Given the description of an element on the screen output the (x, y) to click on. 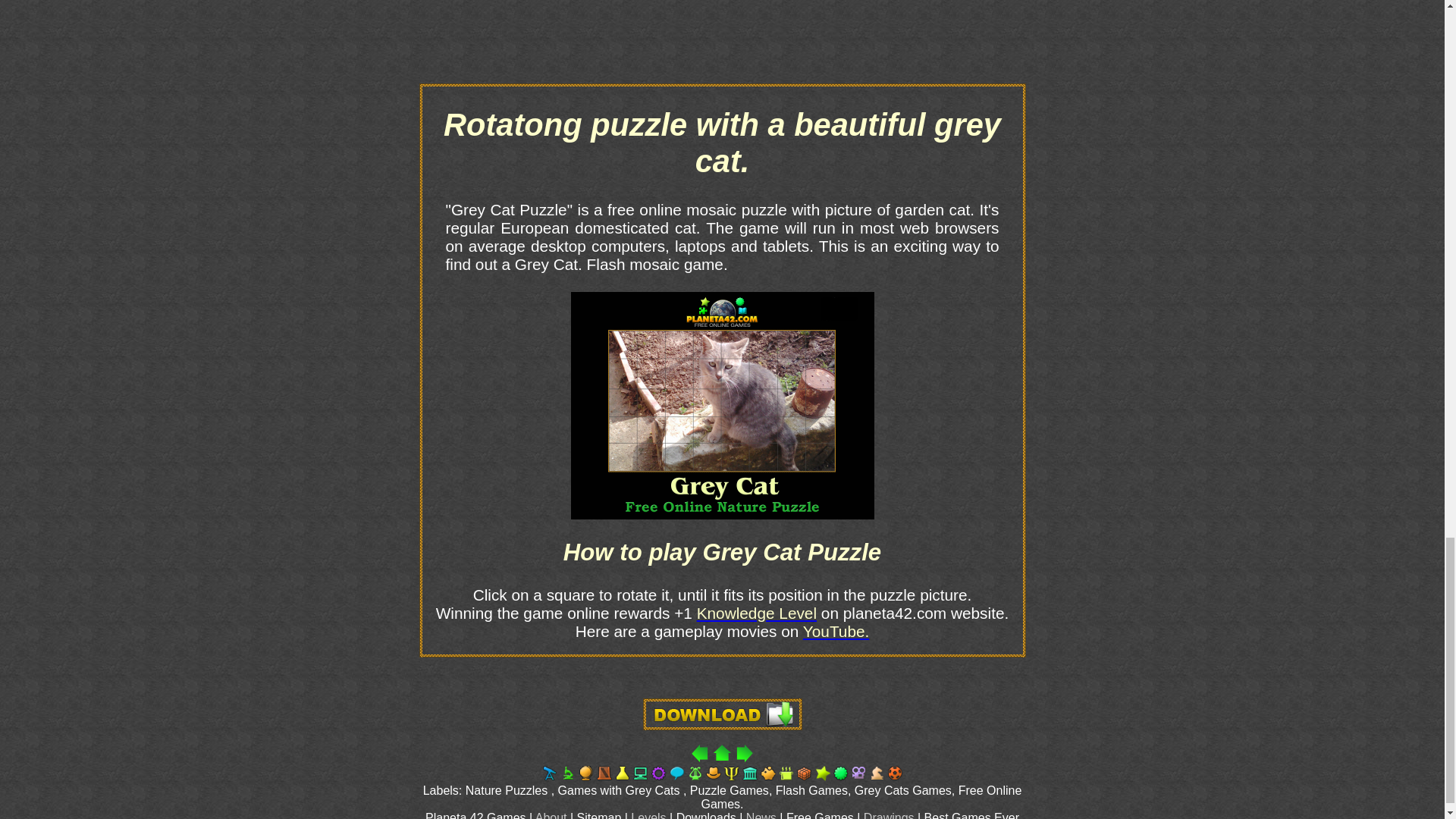
Knowledge Level (756, 612)
YouTube. (836, 630)
